Given the description of an element on the screen output the (x, y) to click on. 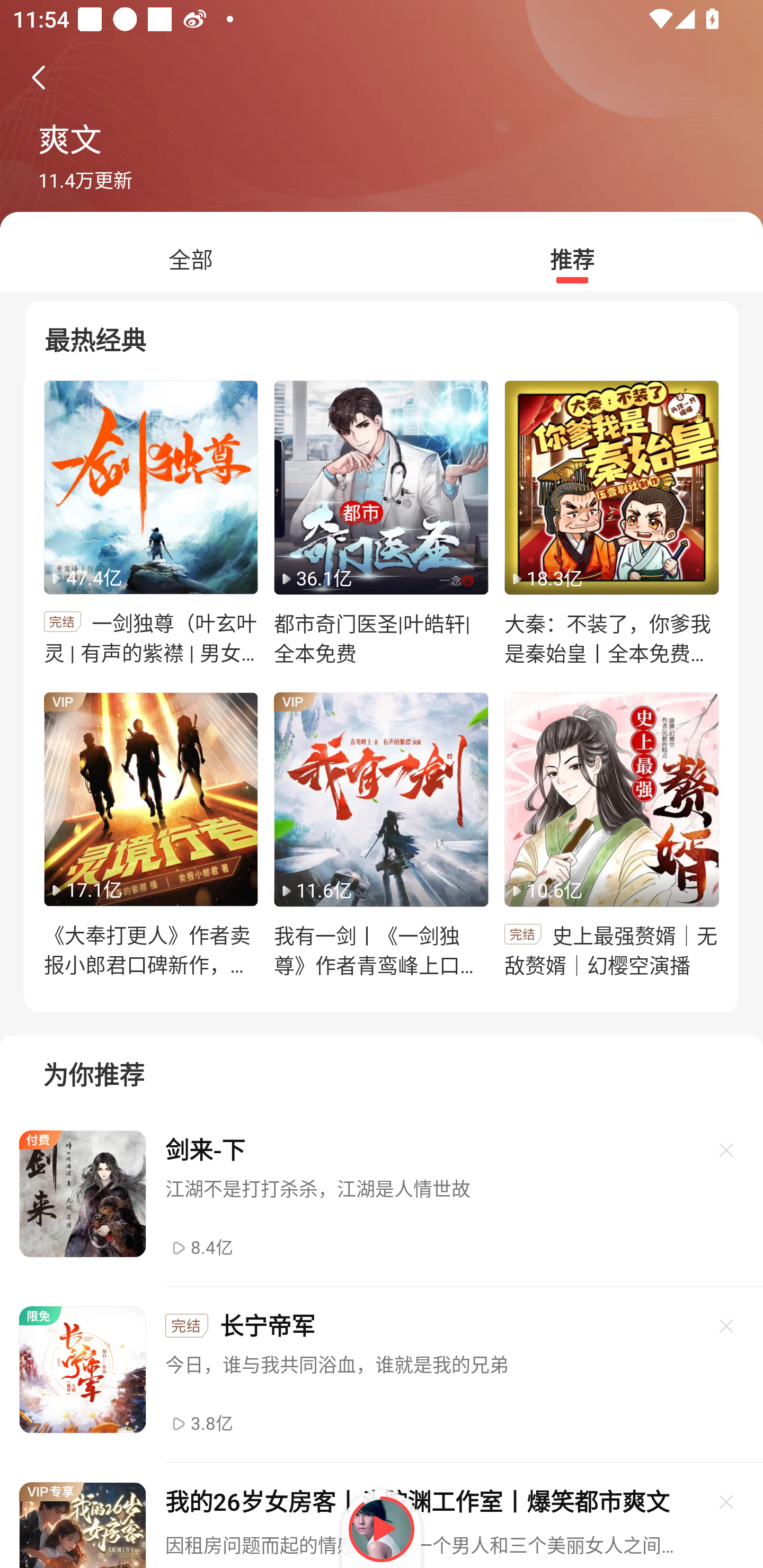
返回 (37, 77)
全部 (190, 259)
推荐 (572, 259)
最热经典 (381, 336)
专辑图 (150, 487)
专辑图 (380, 487)
专辑图 (611, 487)
专辑图 (150, 799)
专辑图 (380, 799)
专辑图 (611, 799)
为你推荐 (381, 1066)
专辑标签 剑来-下 江湖不是打打杀杀，江湖是人情世故 8.4亿 更多 (381, 1199)
更多 (727, 1150)
专辑标签    长宁帝军 今日，谁与我共同浴血，谁就是我的兄弟 3.8亿 更多 (381, 1374)
更多 (727, 1325)
更多 (727, 1501)
继续播放Alpha-橘子海OrangeOcean (381, 1529)
